Given the description of an element on the screen output the (x, y) to click on. 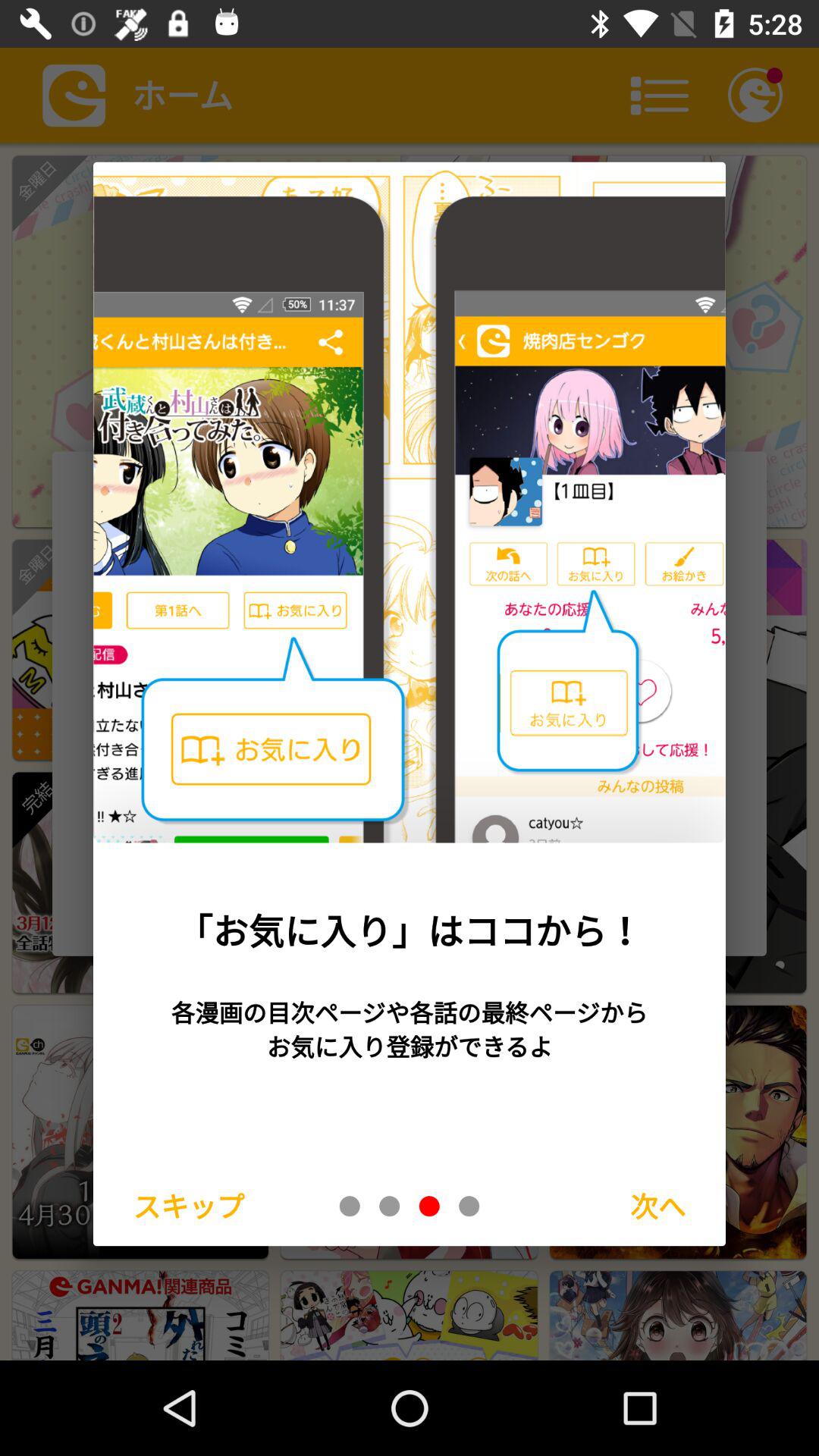
go to page (349, 1206)
